Given the description of an element on the screen output the (x, y) to click on. 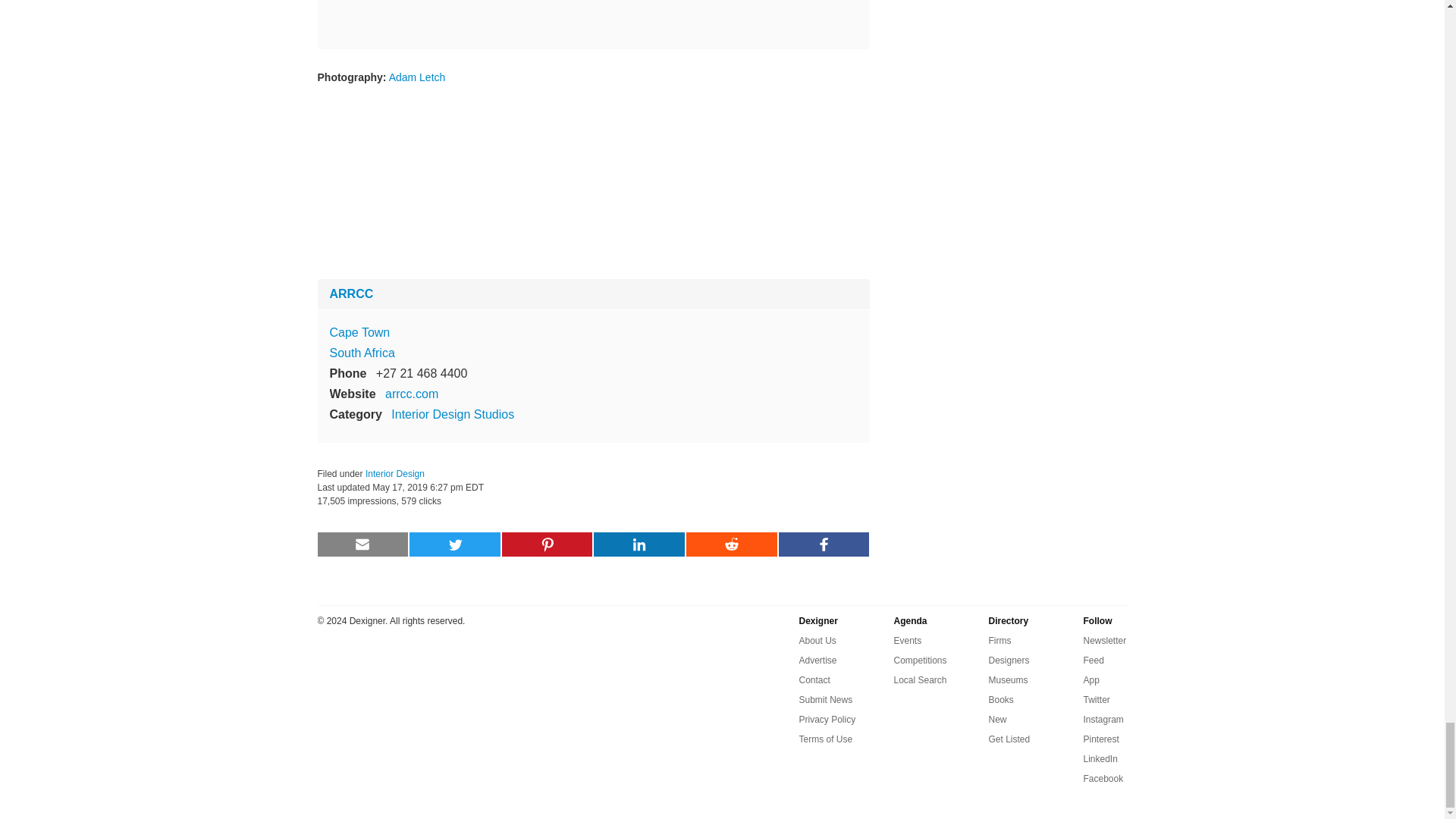
Cape Town (359, 332)
ARRCC (350, 293)
Museums (1007, 679)
Privacy Policy (827, 719)
Advertise (818, 660)
Terms of Use (826, 739)
View on Map (359, 332)
Contact (814, 679)
South Africa (361, 352)
arrcc.com (411, 393)
Get Listed (1009, 739)
Events (907, 640)
Firms (999, 640)
About Us (817, 640)
Competitions (919, 660)
